Given the description of an element on the screen output the (x, y) to click on. 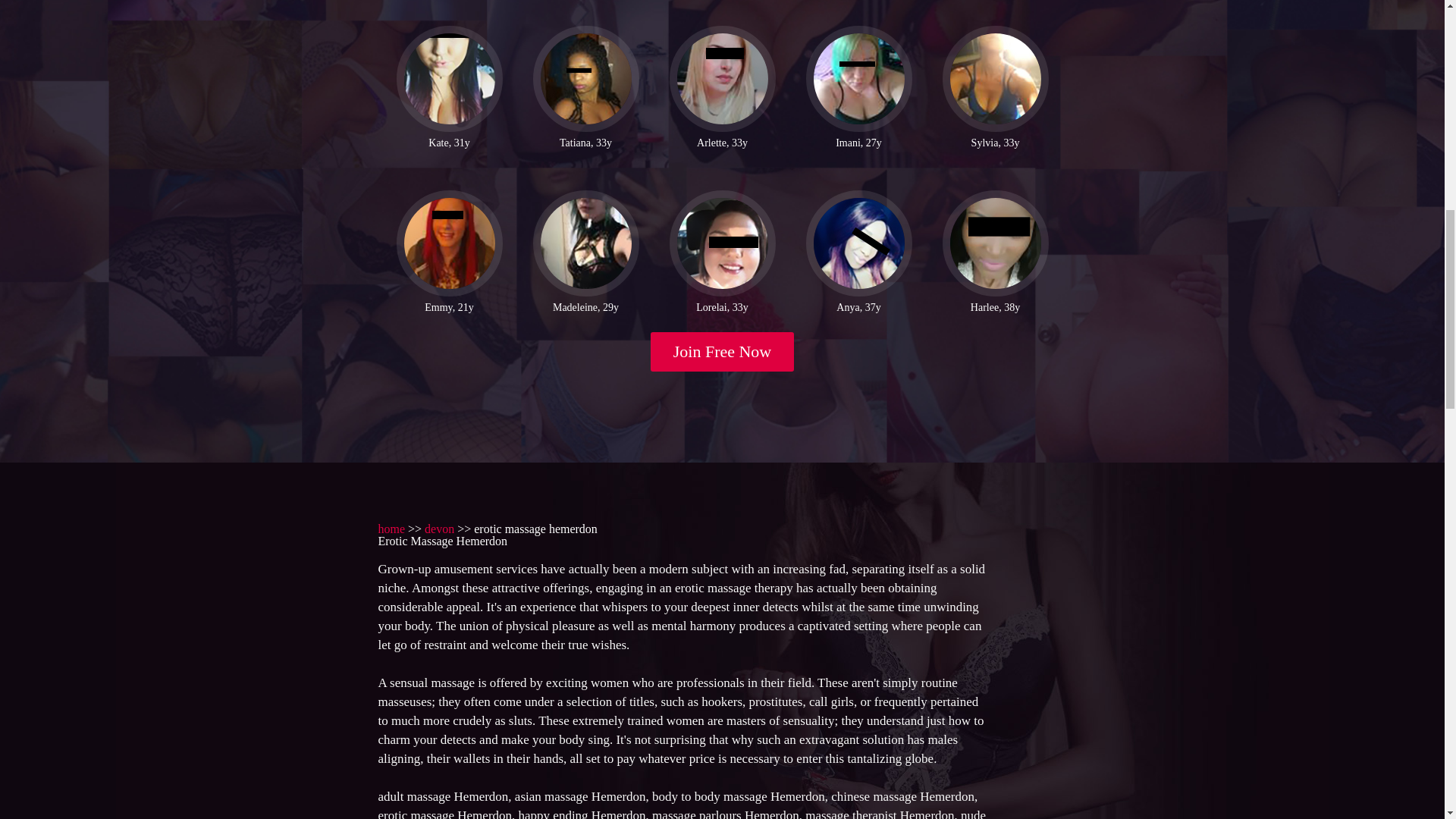
devon (439, 528)
Join Free Now (722, 351)
home (390, 528)
Join (722, 351)
